Given the description of an element on the screen output the (x, y) to click on. 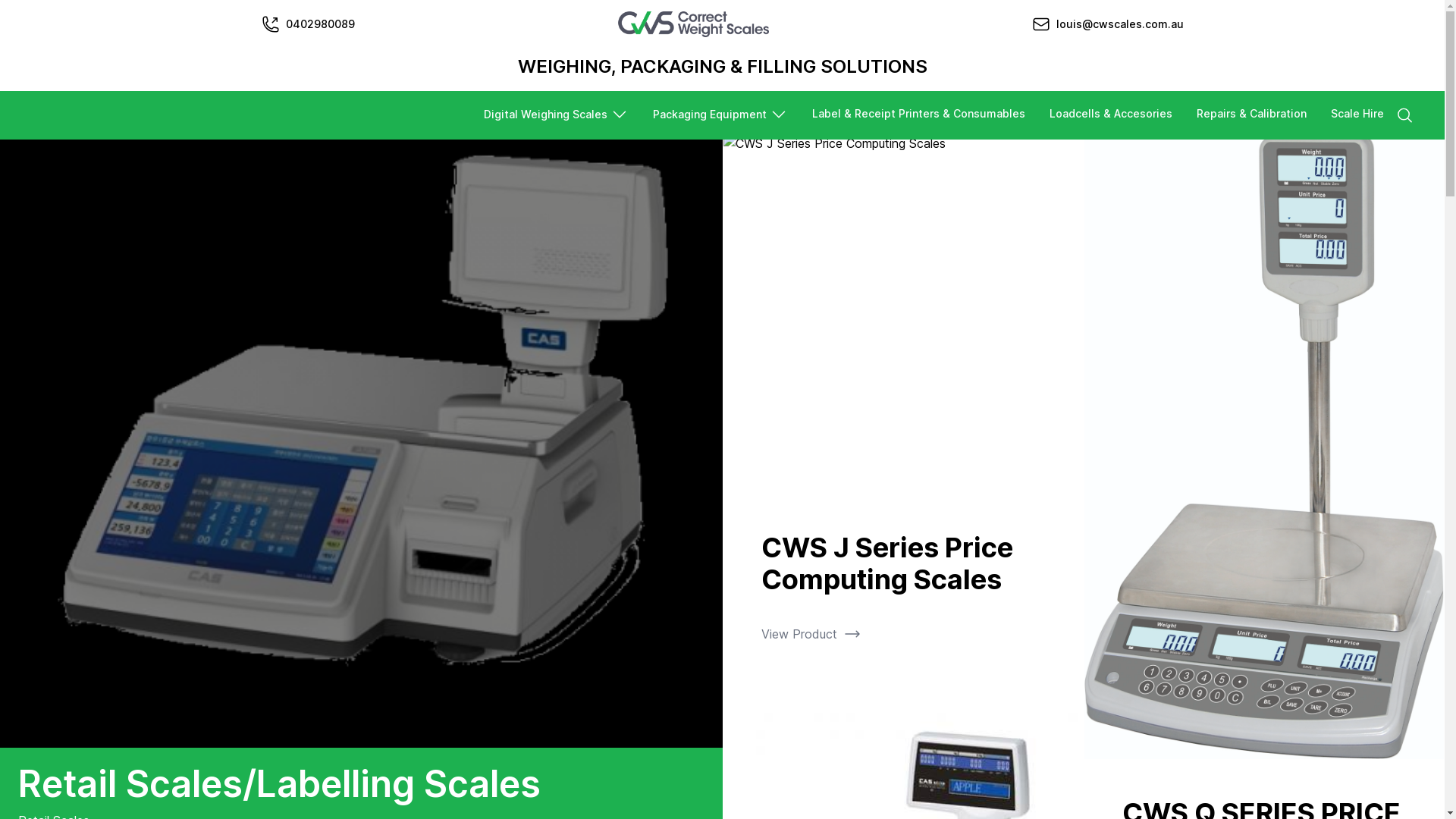
Scale Hire Element type: text (1356, 115)
0402980089 Element type: text (319, 23)
Business logo Element type: text (692, 24)
Loadcells & Accesories Element type: text (1110, 115)
Repairs & Calibration Element type: text (1251, 115)
Packaging Equipment Element type: text (719, 115)
CWS J Series Price Computing Scales
View Product Element type: text (901, 418)
Label & Receipt Printers & Consumables Element type: text (918, 115)
louis@cwscales.com.au Element type: text (1119, 24)
Digital Weighing Scales Element type: text (555, 115)
